Given the description of an element on the screen output the (x, y) to click on. 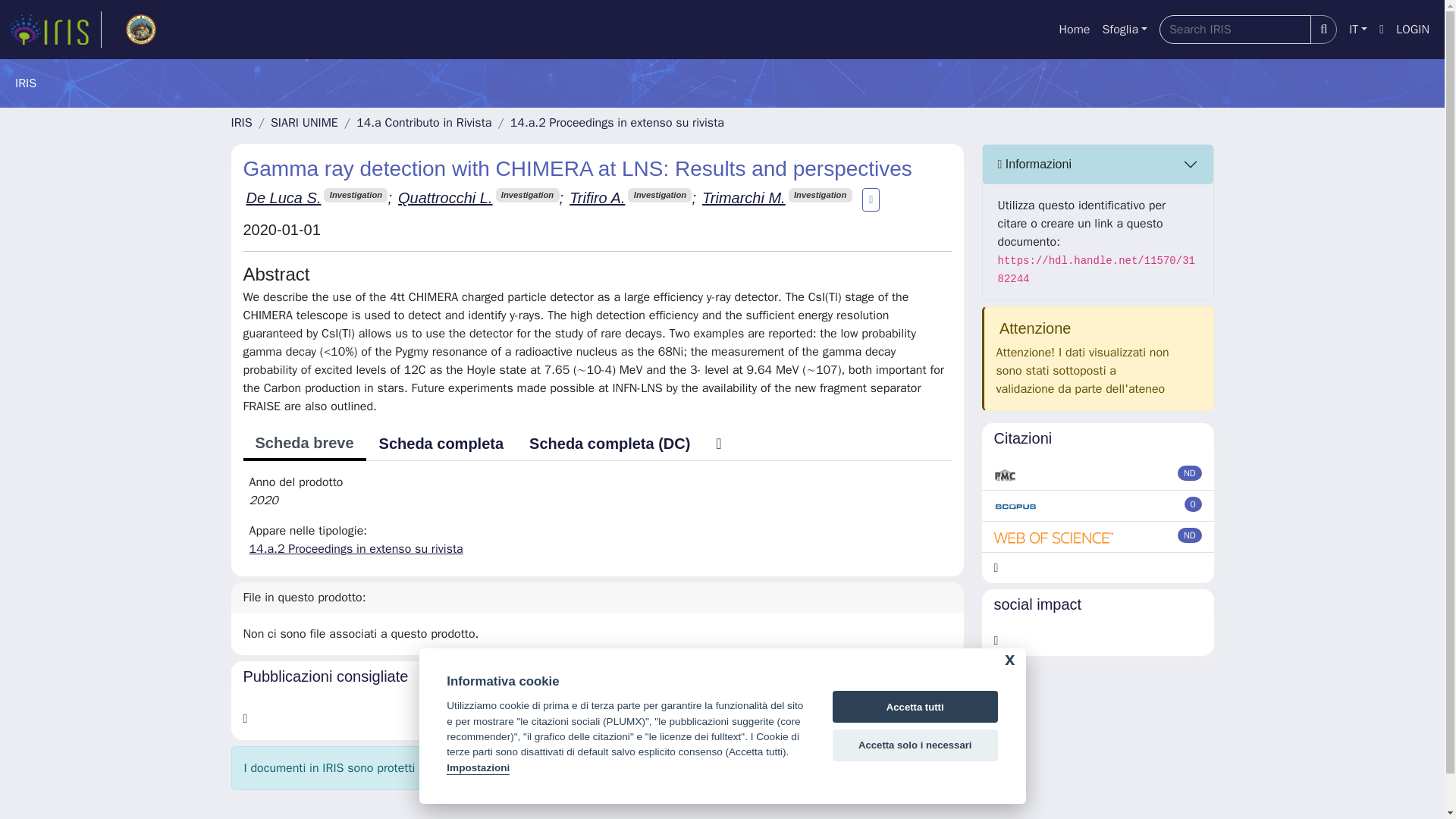
IT (1357, 29)
Sfoglia (1124, 29)
Quattrocchi L. (445, 197)
Accetta solo i necessari (914, 745)
Scheda completa (441, 443)
De Luca S. (283, 197)
Trifiro A. (596, 197)
Scheda breve (304, 444)
14.a Contributo in Rivista (424, 122)
LOGIN (1412, 29)
Home (1074, 29)
SIARI UNIME (303, 122)
IRIS (240, 122)
Accetta tutti (914, 706)
14.a.2 Proceedings in extenso su rivista (617, 122)
